Given the description of an element on the screen output the (x, y) to click on. 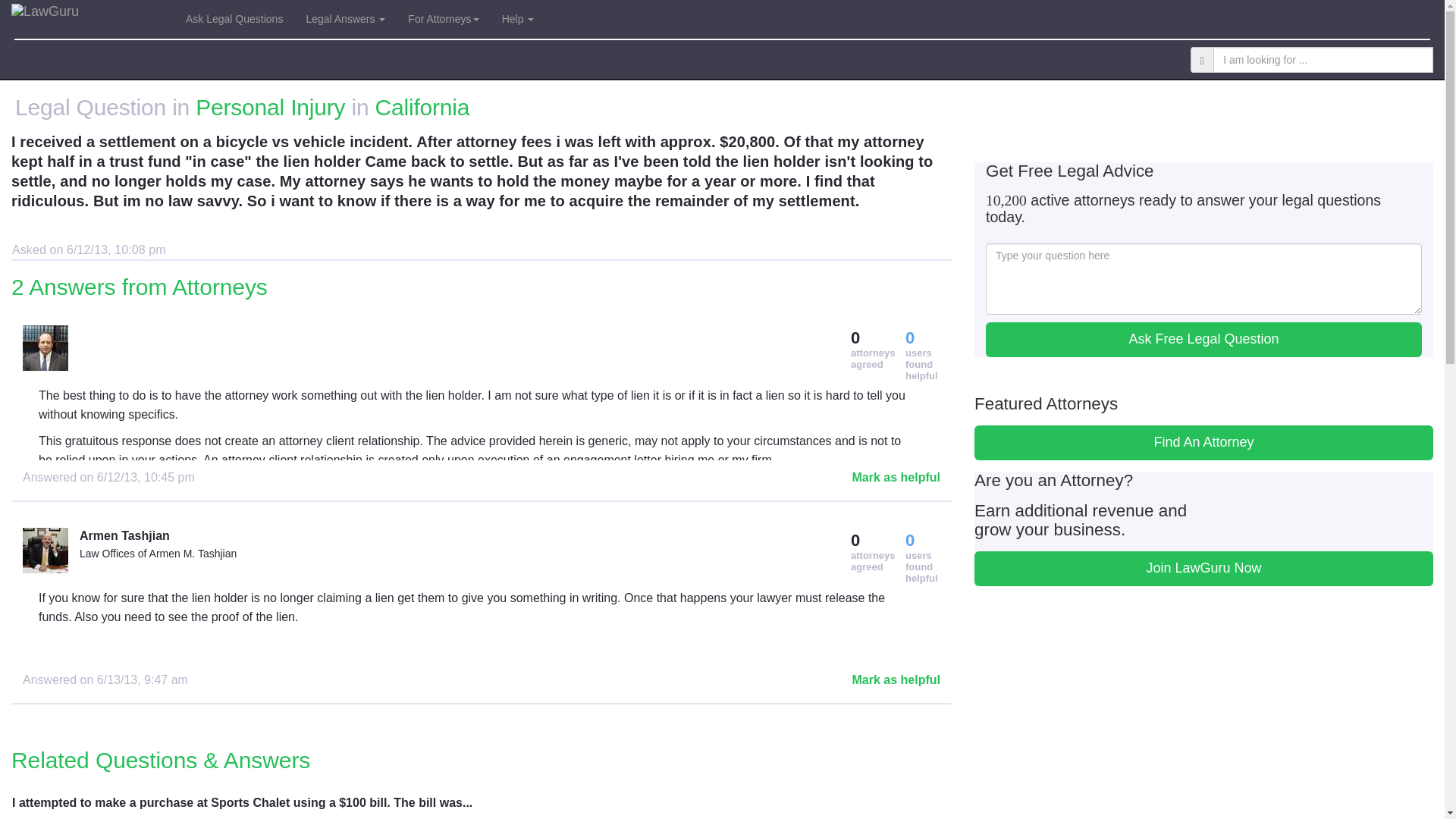
California (422, 107)
Legal Answers (345, 18)
Ask Legal Questions (234, 18)
Armen Tashjian (378, 536)
Personal Injury (270, 107)
Help (518, 18)
Mark as helpful (895, 679)
For Attorneys (442, 18)
Mark as helpful (930, 806)
